Given the description of an element on the screen output the (x, y) to click on. 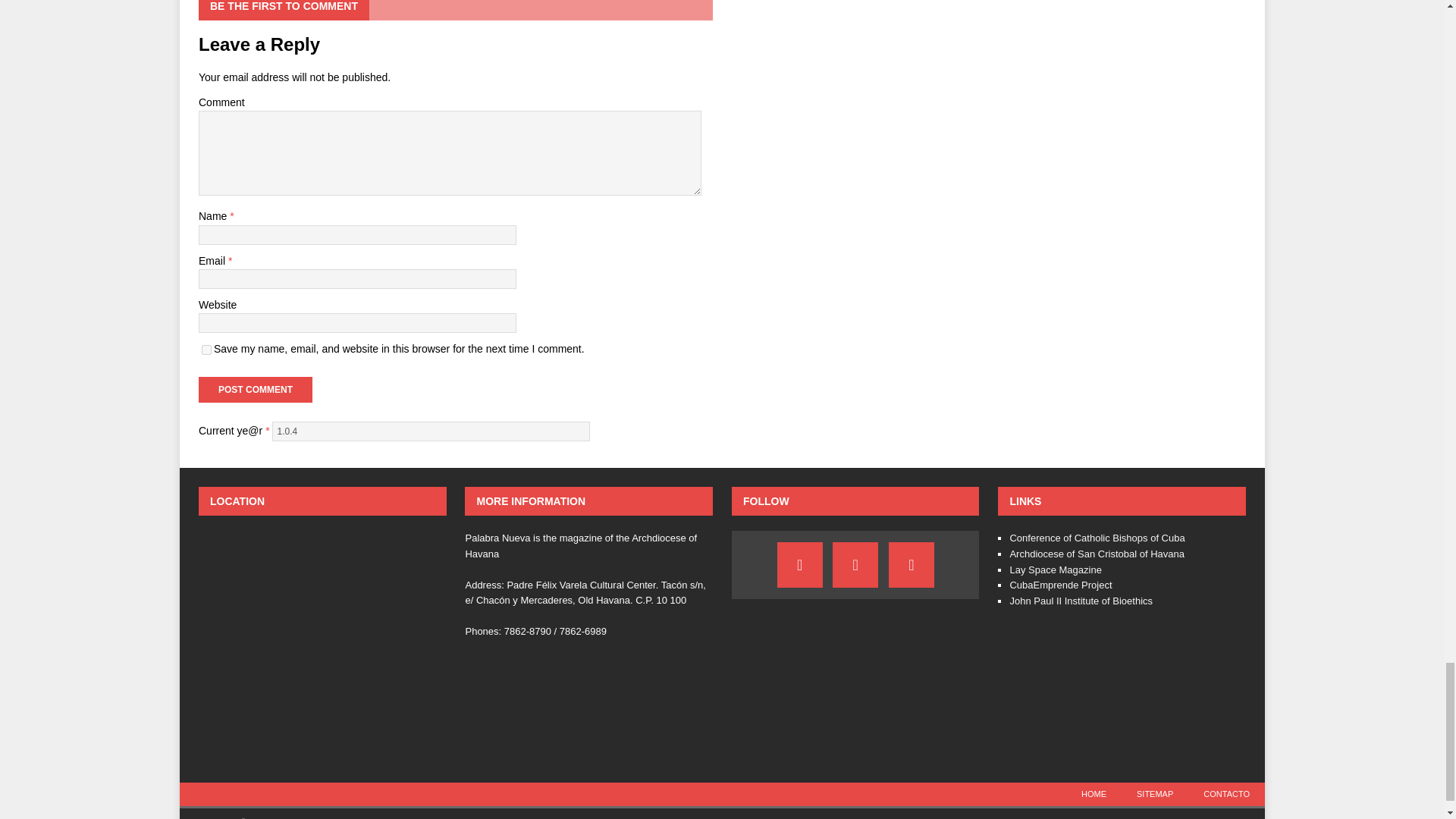
1.0.4 (430, 431)
yes (206, 349)
Post Comment (255, 389)
